Given the description of an element on the screen output the (x, y) to click on. 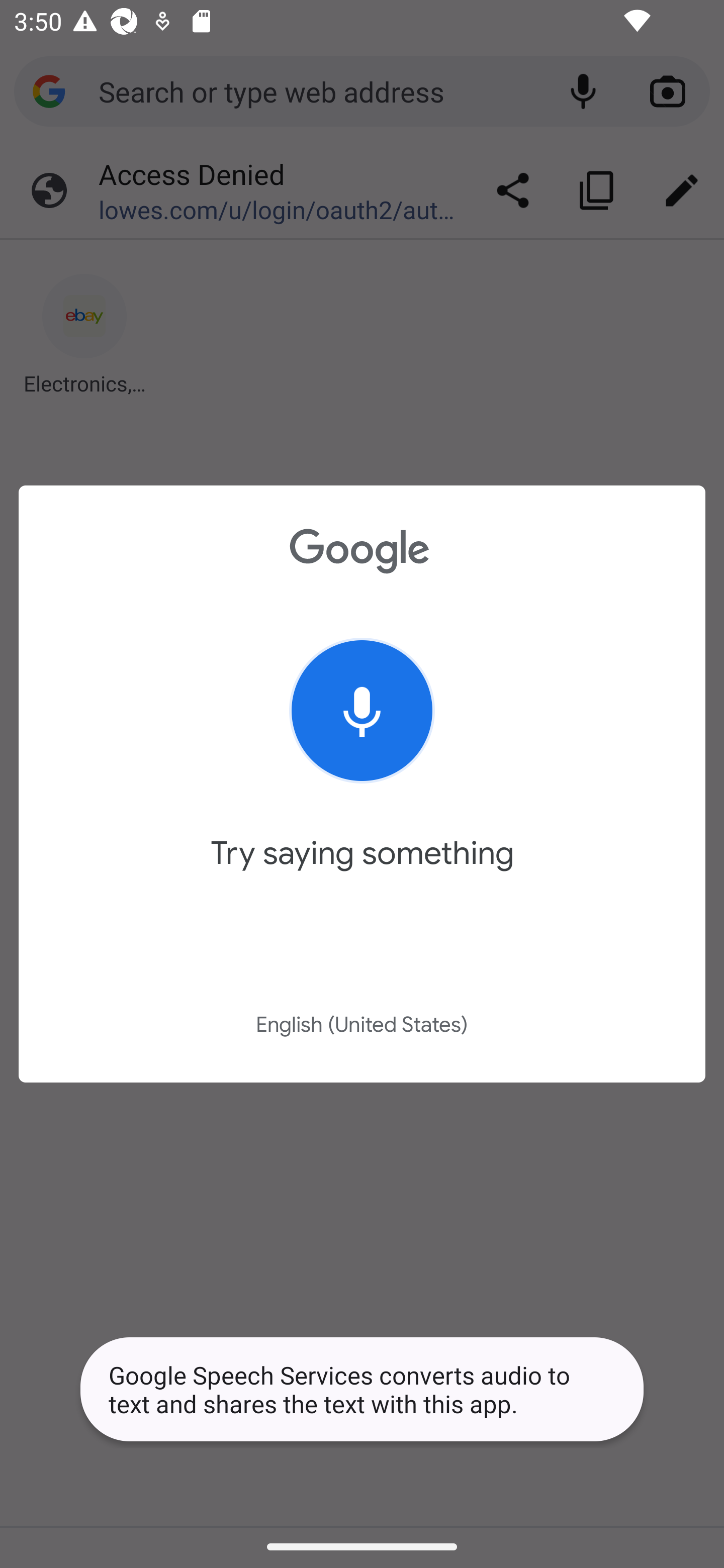
Tap to stop listening (361, 710)
